Given the description of an element on the screen output the (x, y) to click on. 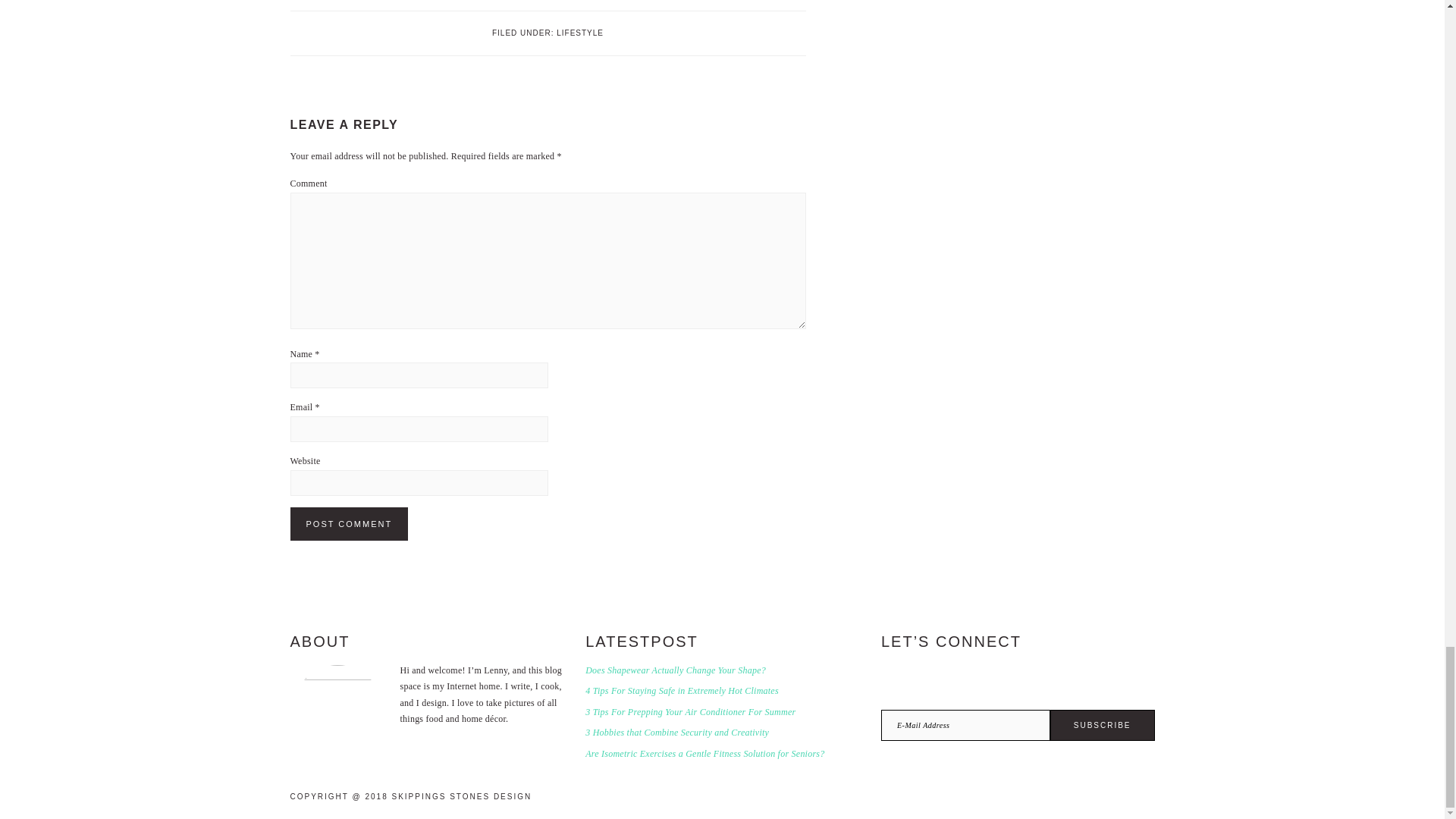
Does Shapewear Actually Change Your Shape? (675, 670)
SUBSCRIBE (1101, 725)
Post Comment (348, 523)
4 Tips For Staying Safe in Extremely Hot Climates (681, 690)
Post Comment (348, 523)
3 Hobbies that Combine Security and Creativity (676, 732)
LIFESTYLE (580, 32)
3 Tips For Prepping Your Air Conditioner For Summer (689, 711)
